Given the description of an element on the screen output the (x, y) to click on. 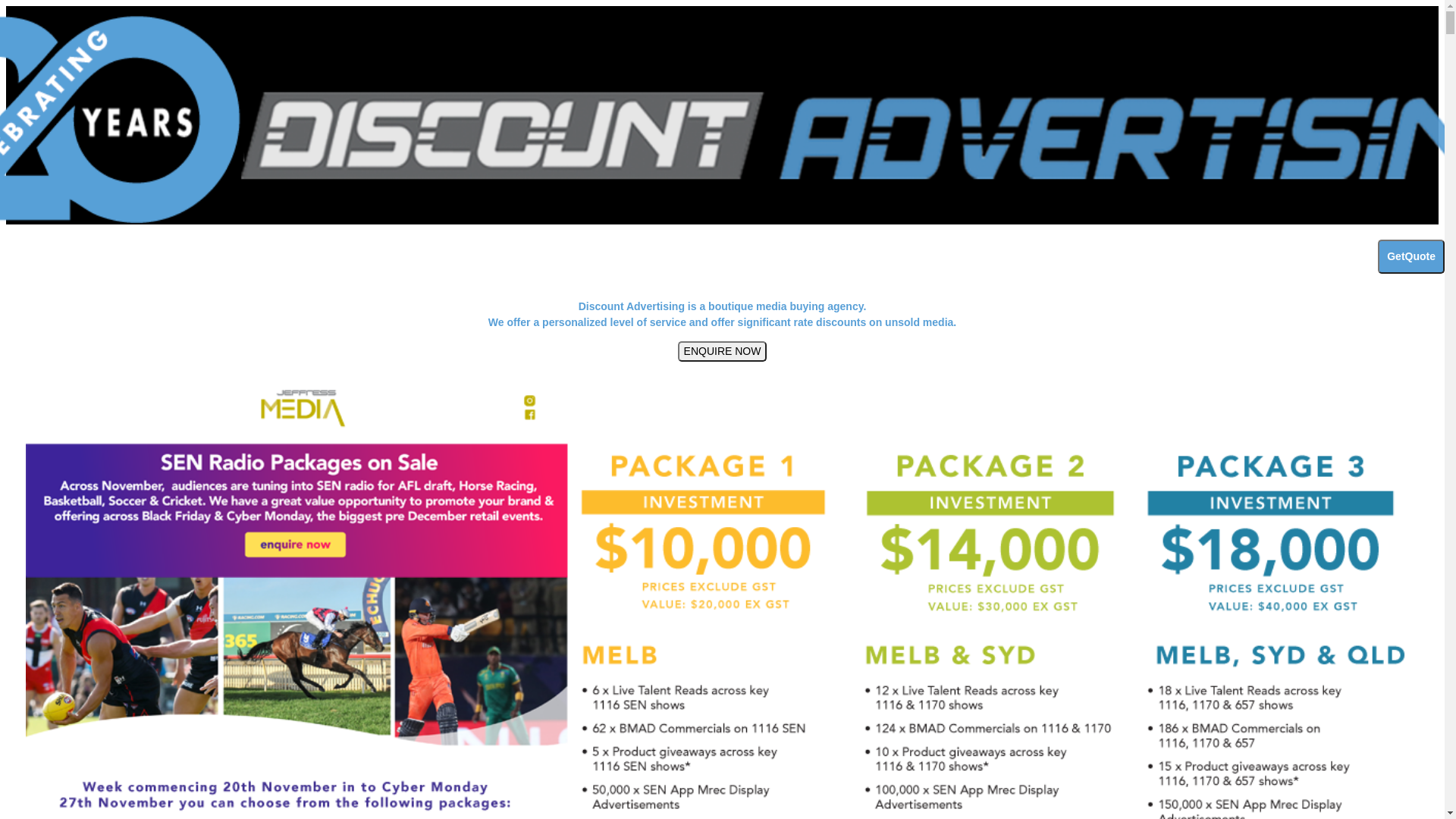
GetQuote Element type: text (1410, 256)
Blog Element type: text (1333, 269)
Home Element type: text (1095, 269)
ENQUIRE NOW Element type: text (722, 351)
Services Element type: text (1223, 269)
Contact Us Element type: text (1397, 269)
Offers Element type: text (1284, 269)
ENQUIRE NOW Element type: text (722, 351)
Aboutus Element type: text (1155, 269)
